Given the description of an element on the screen output the (x, y) to click on. 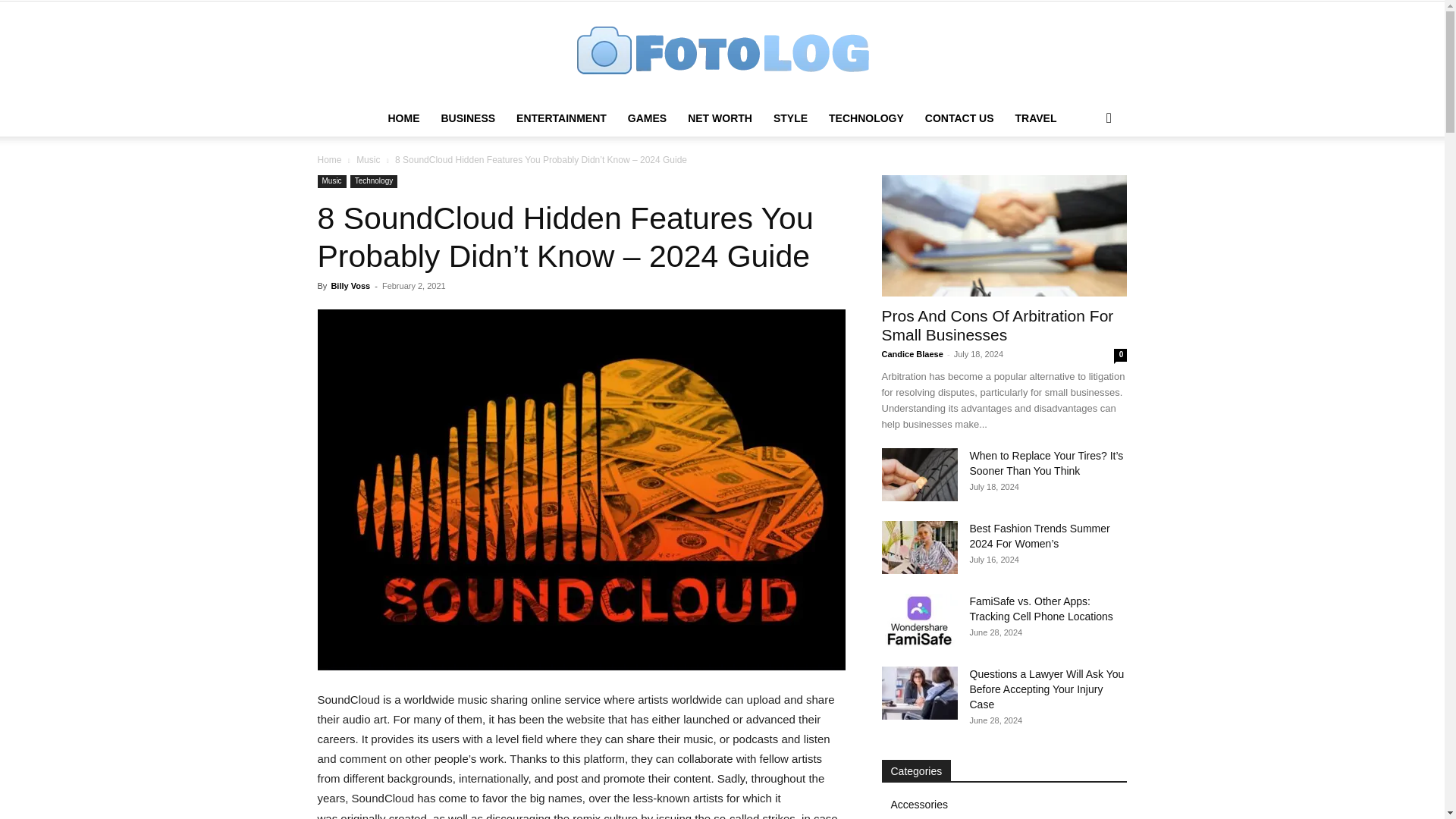
Billy Voss (349, 285)
NET WORTH (719, 117)
Music (331, 181)
Music (368, 159)
ENTERTAINMENT (561, 117)
BUSINESS (467, 117)
TRAVEL (1035, 117)
HOME (403, 117)
View all posts in Music (368, 159)
TECHNOLOGY (866, 117)
Search (1085, 178)
CONTACT US (959, 117)
Technology (373, 181)
Home (328, 159)
